Given the description of an element on the screen output the (x, y) to click on. 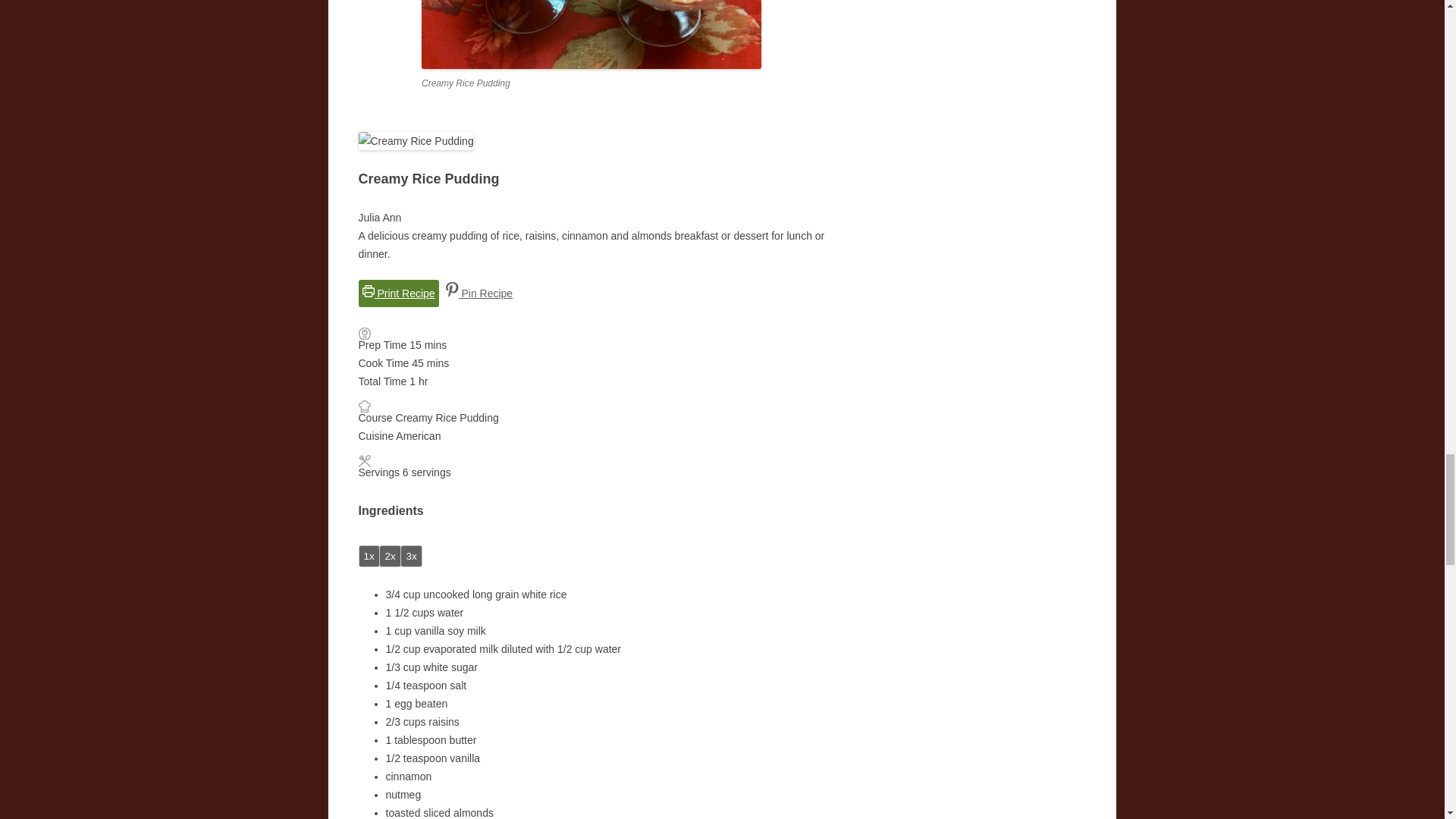
2x (390, 556)
Print Recipe (398, 293)
1x (368, 556)
3x (411, 556)
Pin Recipe (479, 293)
